Given the description of an element on the screen output the (x, y) to click on. 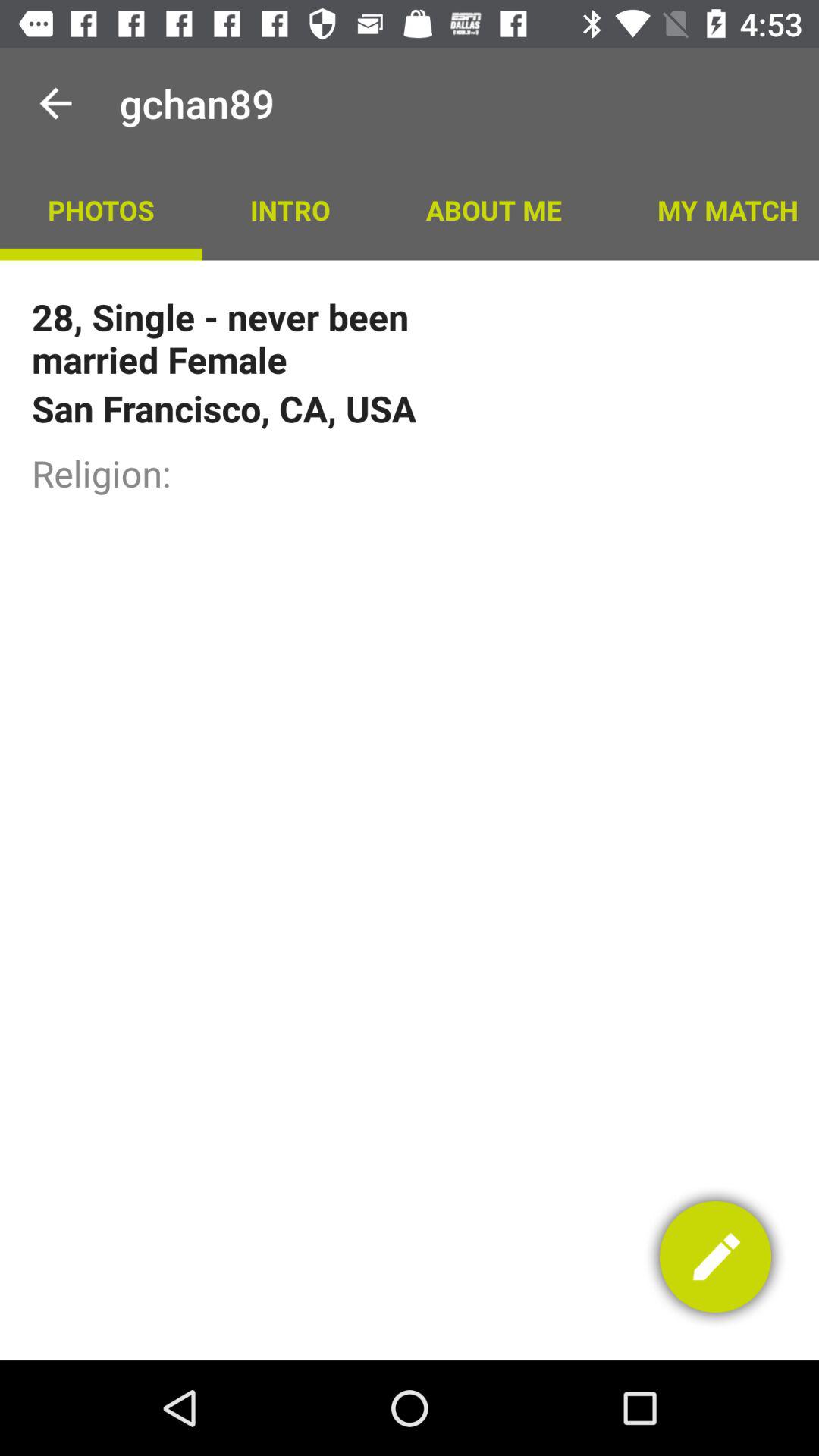
jump until the intro app (290, 209)
